Given the description of an element on the screen output the (x, y) to click on. 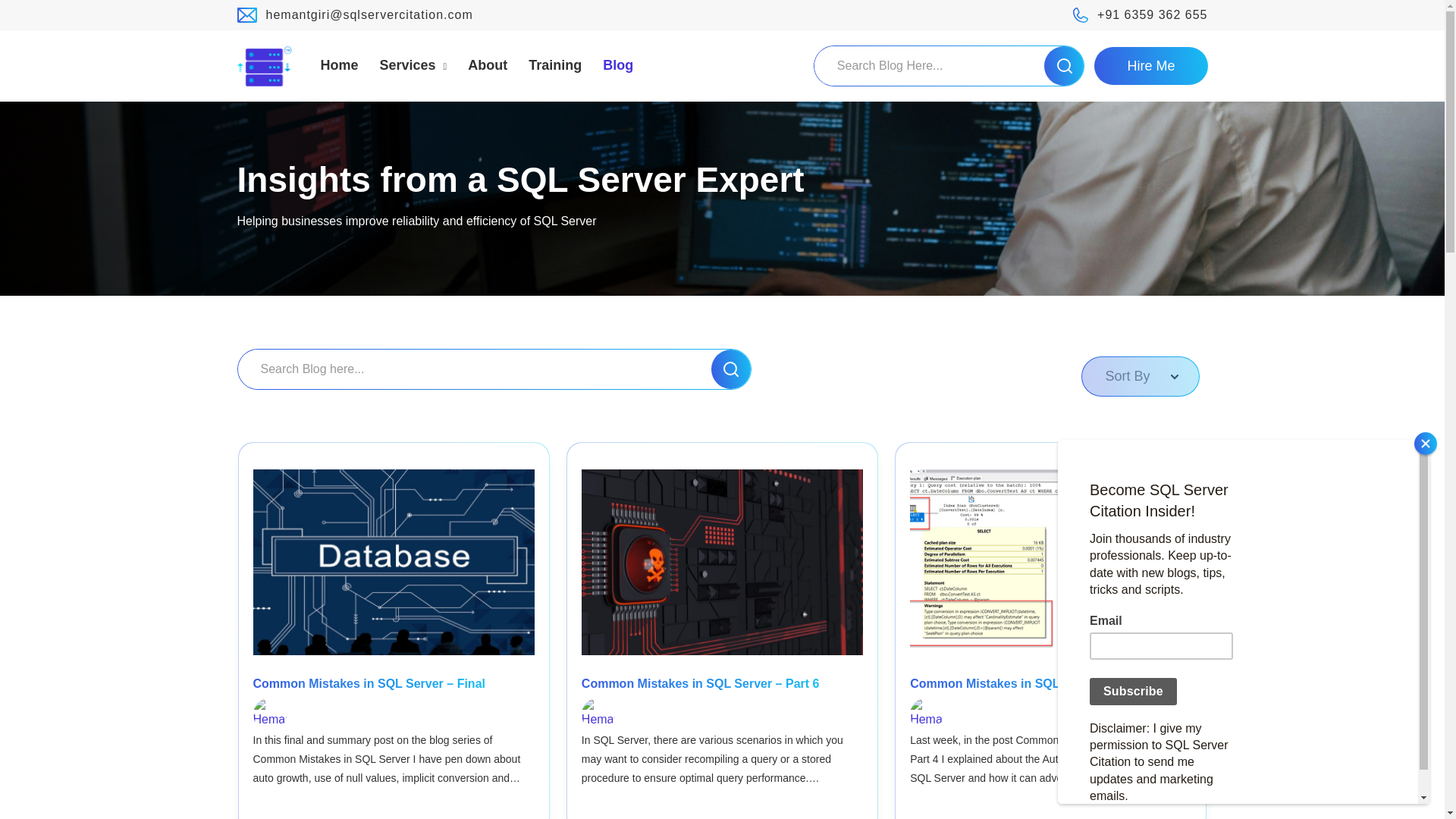
Hire Me (1150, 65)
About (486, 65)
Home (339, 65)
Services (413, 65)
Group 2 (263, 65)
Training (554, 65)
